Given the description of an element on the screen output the (x, y) to click on. 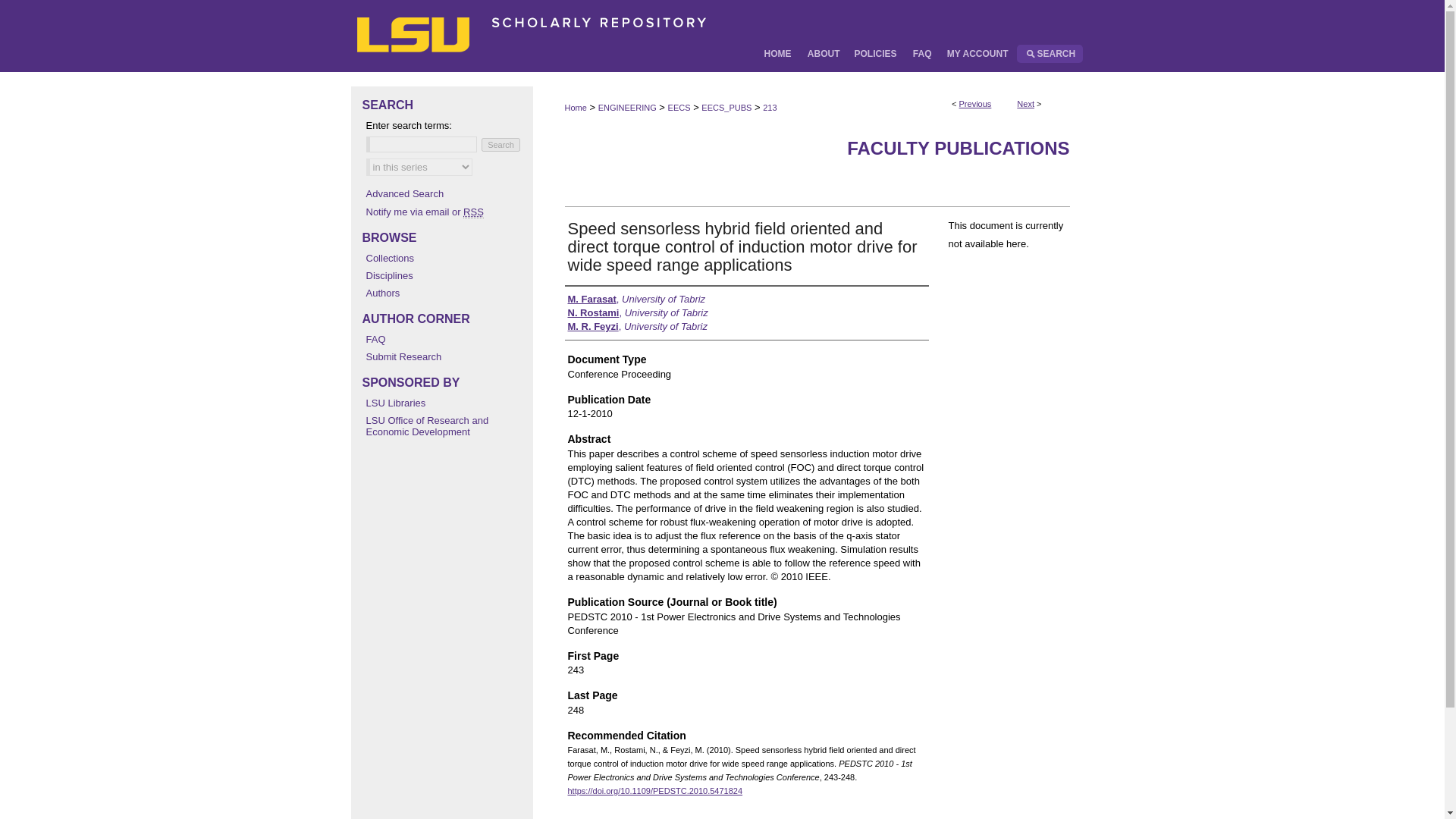
Home (575, 107)
Submit Research (444, 356)
Browse by Author (444, 292)
N. Rostami, University of Tabriz (637, 313)
LSU Libraries (444, 402)
ABOUT (823, 54)
Authors (444, 292)
Browse by Collections (444, 257)
Policies (874, 54)
Collections (444, 257)
Really Simple Syndication (473, 212)
SEARCH (1048, 54)
FAQ (922, 54)
ENGINEERING (627, 107)
About (823, 54)
